Given the description of an element on the screen output the (x, y) to click on. 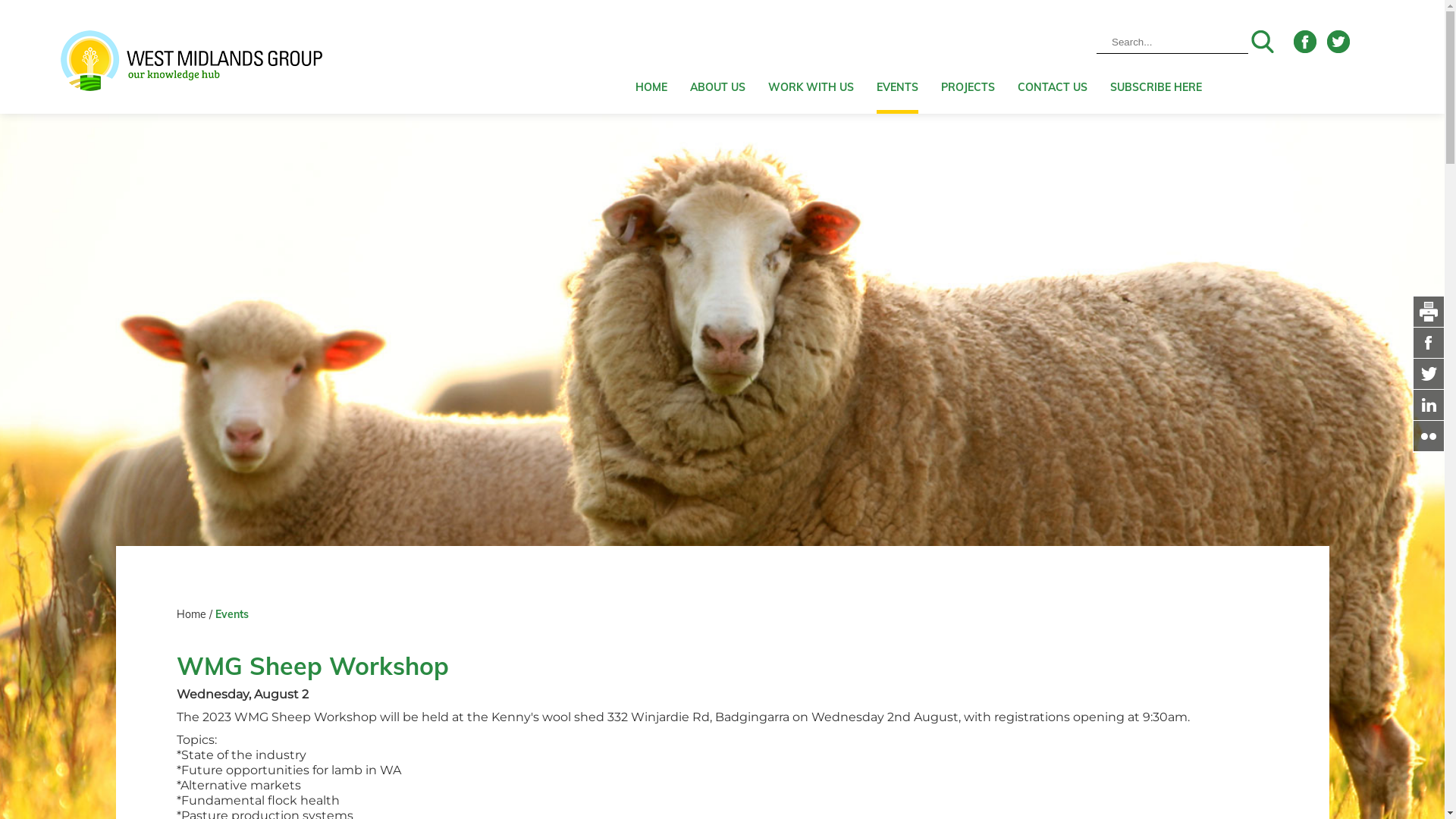
  Element type: text (1428, 341)
  Element type: text (1428, 436)
Skip to main content Element type: text (0, 0)
PROJECTS Element type: text (967, 56)
Events Element type: text (231, 613)
ABOUT US Element type: text (717, 56)
CONTACT US Element type: text (1052, 56)
Home Element type: text (193, 613)
Enter the terms you wish to search for. Element type: hover (1172, 41)
Search Element type: text (1262, 41)
  Element type: text (1428, 373)
EVENTS Element type: text (897, 56)
HOME Element type: text (651, 56)
WORK WITH US Element type: text (810, 56)
SUBSCRIBE HERE Element type: text (1155, 56)
  Element type: text (1428, 404)
  Element type: text (1428, 310)
